Given the description of an element on the screen output the (x, y) to click on. 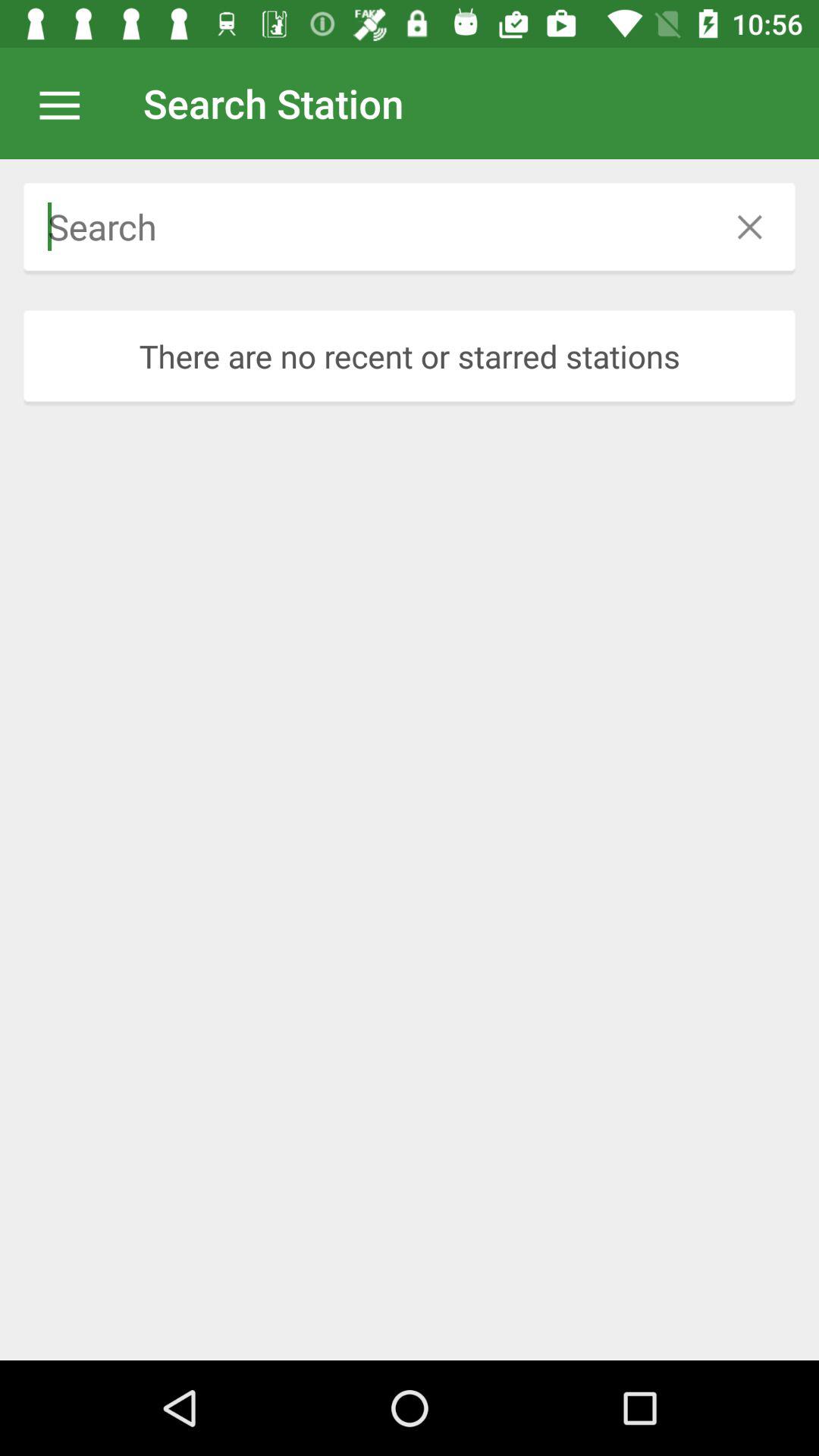
turn off app to the left of the search station app (67, 103)
